Given the description of an element on the screen output the (x, y) to click on. 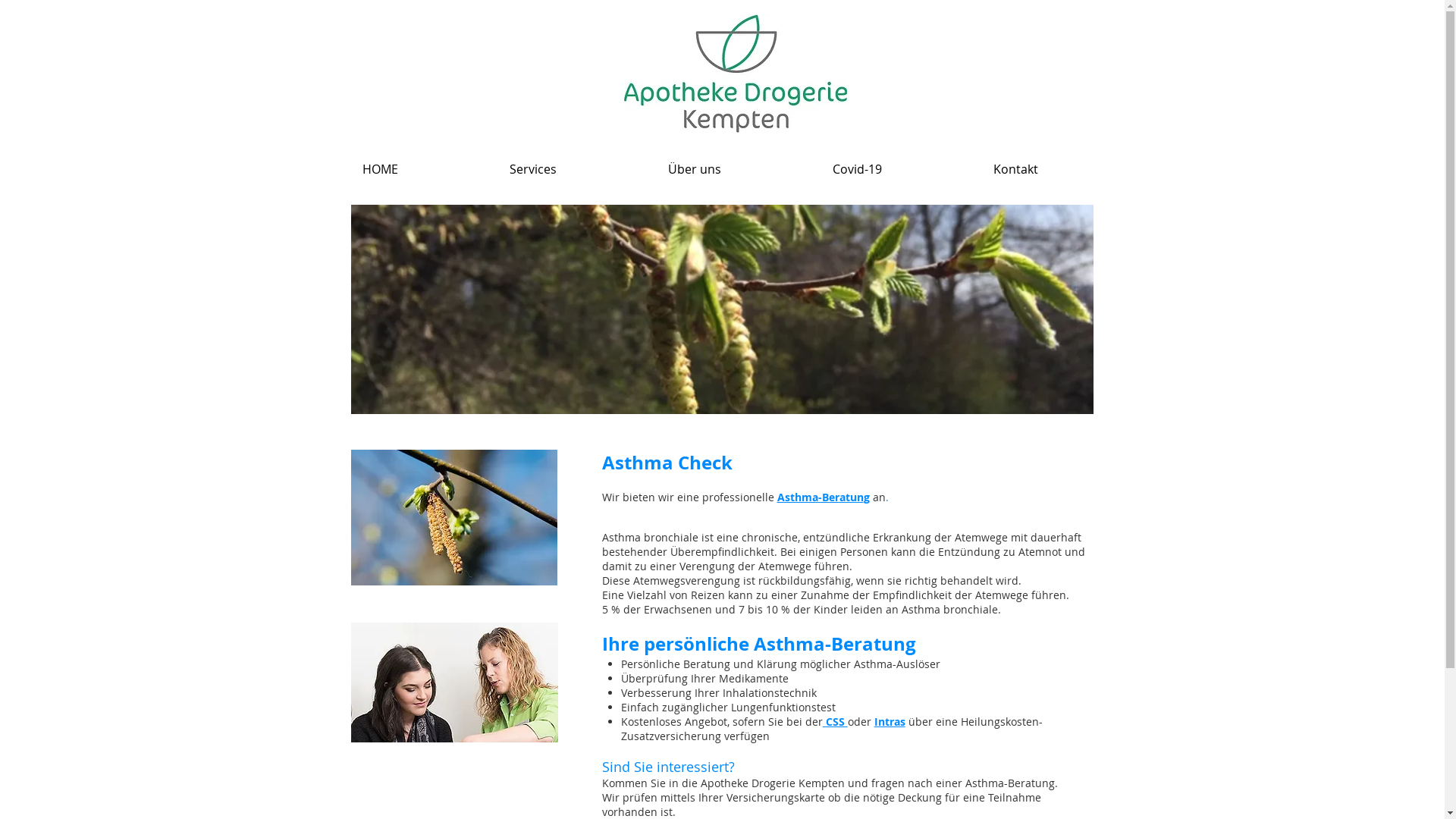
an Element type: text (878, 496)
CSS Element type: text (834, 721)
Intras Element type: text (889, 721)
Asthma Check Element type: text (667, 462)
chronische Element type: text (769, 537)
Services Element type: text (576, 169)
g Element type: text (867, 496)
HOME Element type: text (423, 169)
Atemwege Element type: text (980, 537)
. Element type: text (886, 496)
Asthma-Beratun Element type: text (819, 496)
Kontakt Element type: text (1059, 169)
